Given the description of an element on the screen output the (x, y) to click on. 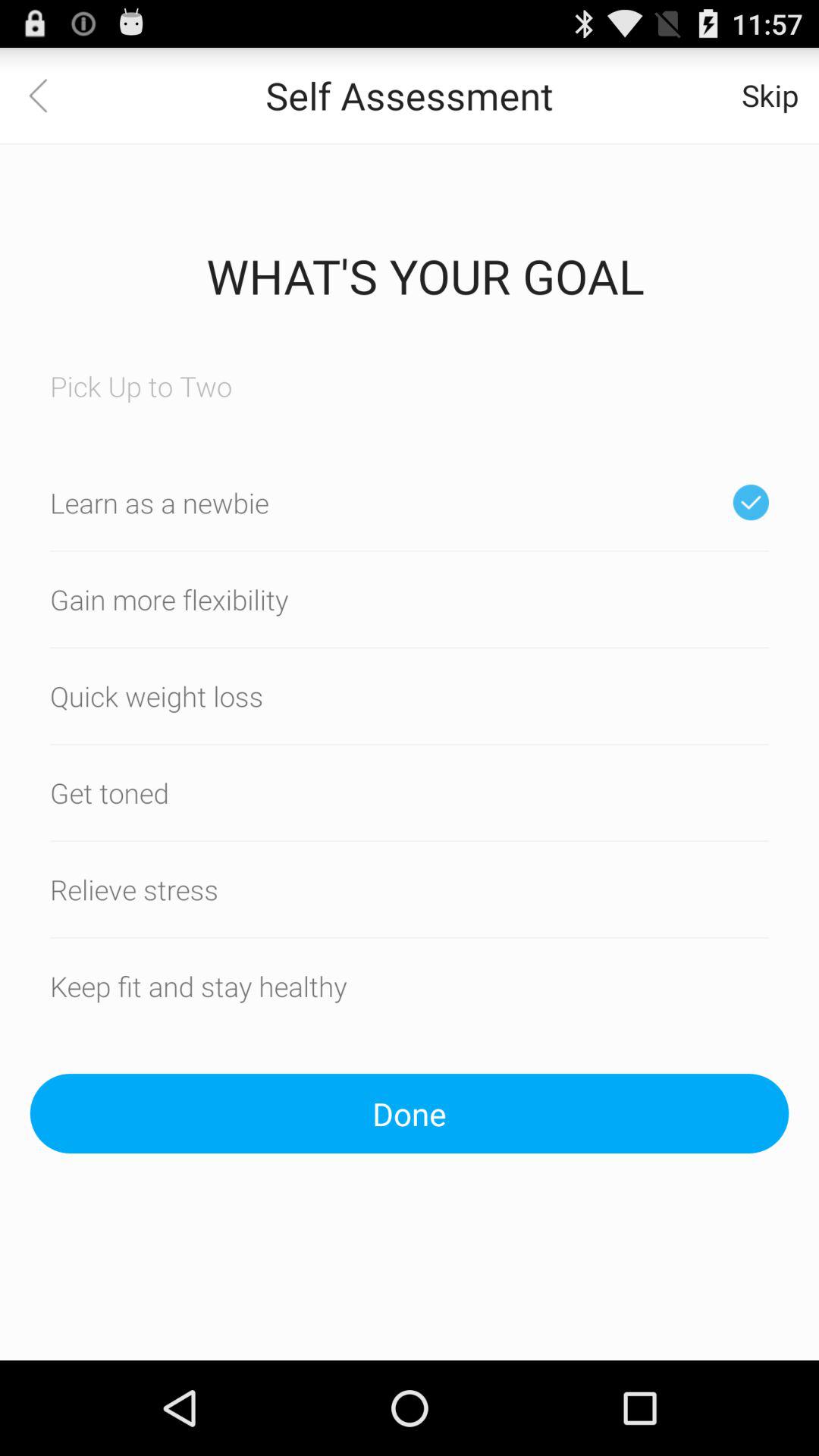
flip until the skip icon (770, 95)
